Given the description of an element on the screen output the (x, y) to click on. 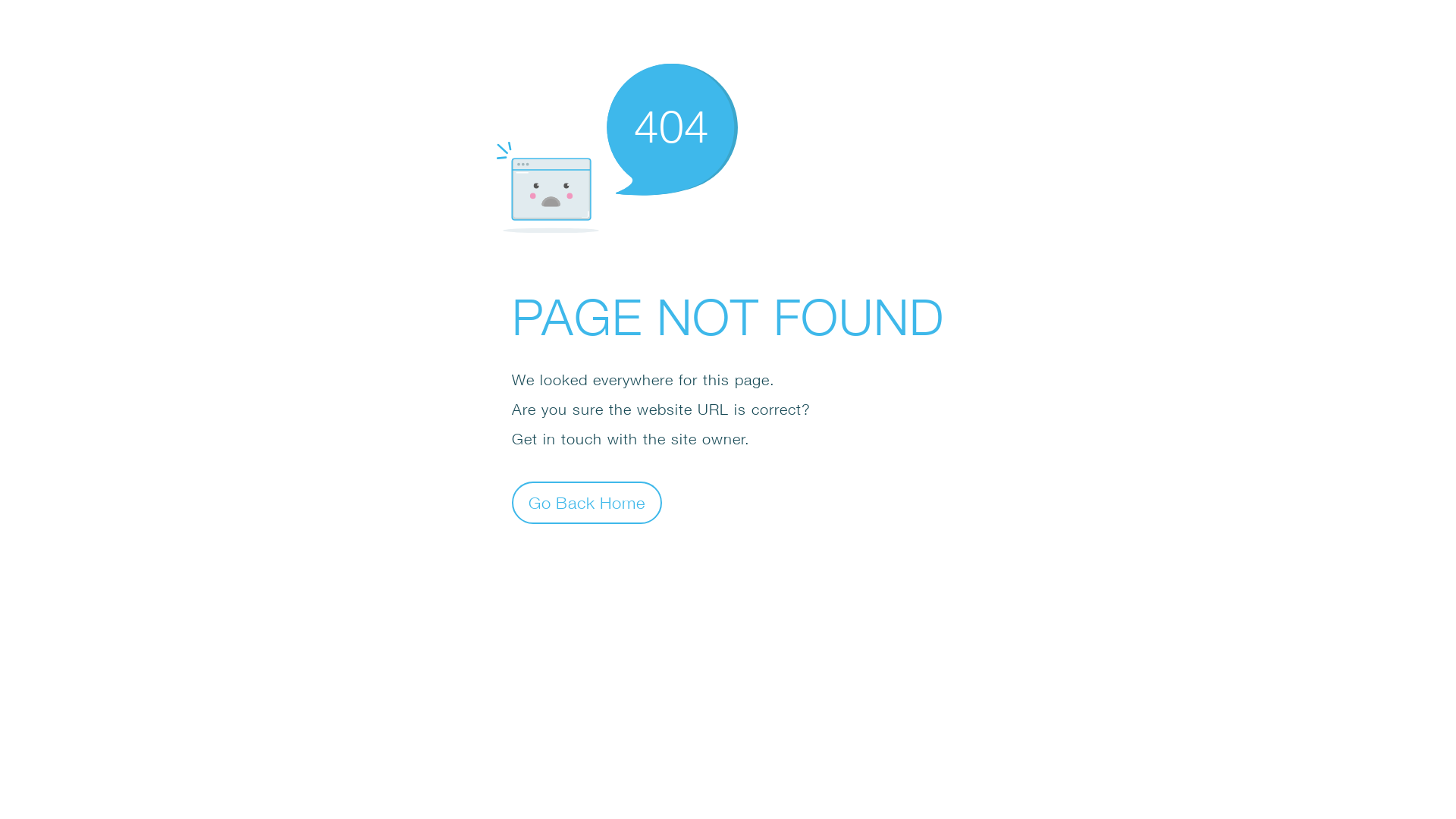
Go Back Home Element type: text (586, 502)
